Given the description of an element on the screen output the (x, y) to click on. 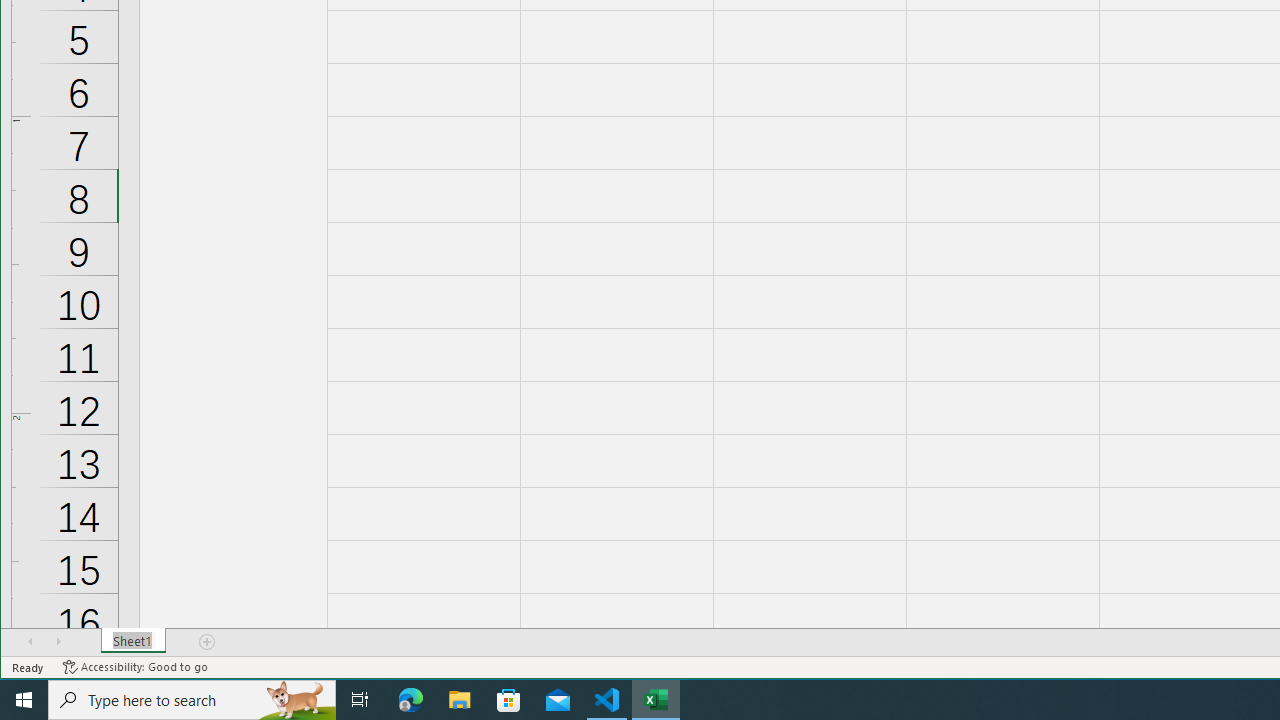
Microsoft Edge (411, 699)
Task View (359, 699)
Microsoft Store (509, 699)
File Explorer (460, 699)
Sheet Tab (133, 641)
Visual Studio Code - 1 running window (607, 699)
Type here to search (191, 699)
Search highlights icon opens search home window (295, 699)
Excel - 1 running window (656, 699)
Start (24, 699)
